Given the description of an element on the screen output the (x, y) to click on. 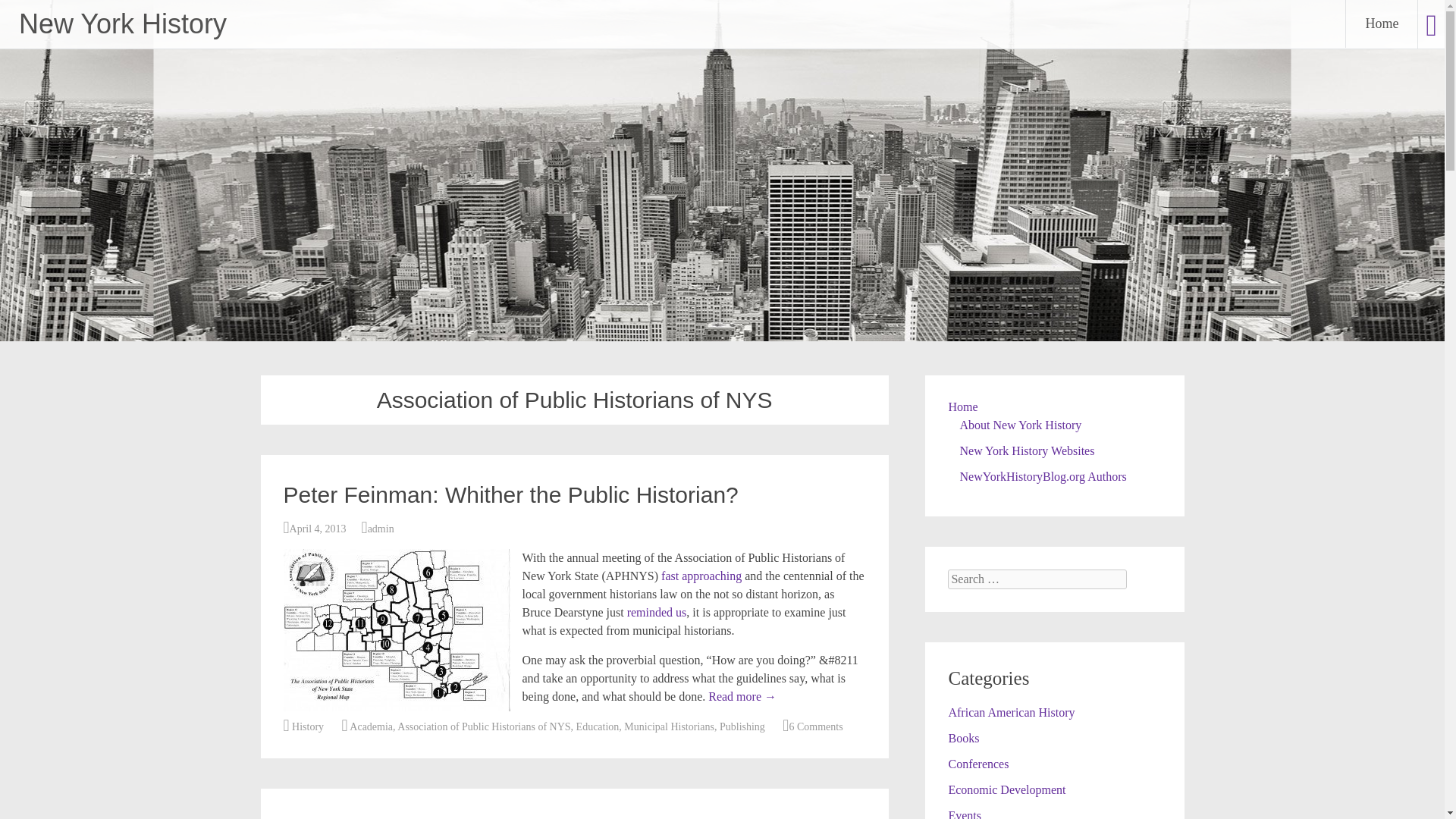
History (307, 726)
Academia (371, 726)
Publishing (742, 726)
6 Comments (816, 726)
Association of Public Historians of NYS (483, 726)
New York History (122, 23)
April 4, 2013 (317, 528)
reminded us (657, 612)
fast approaching (702, 575)
